Given the description of an element on the screen output the (x, y) to click on. 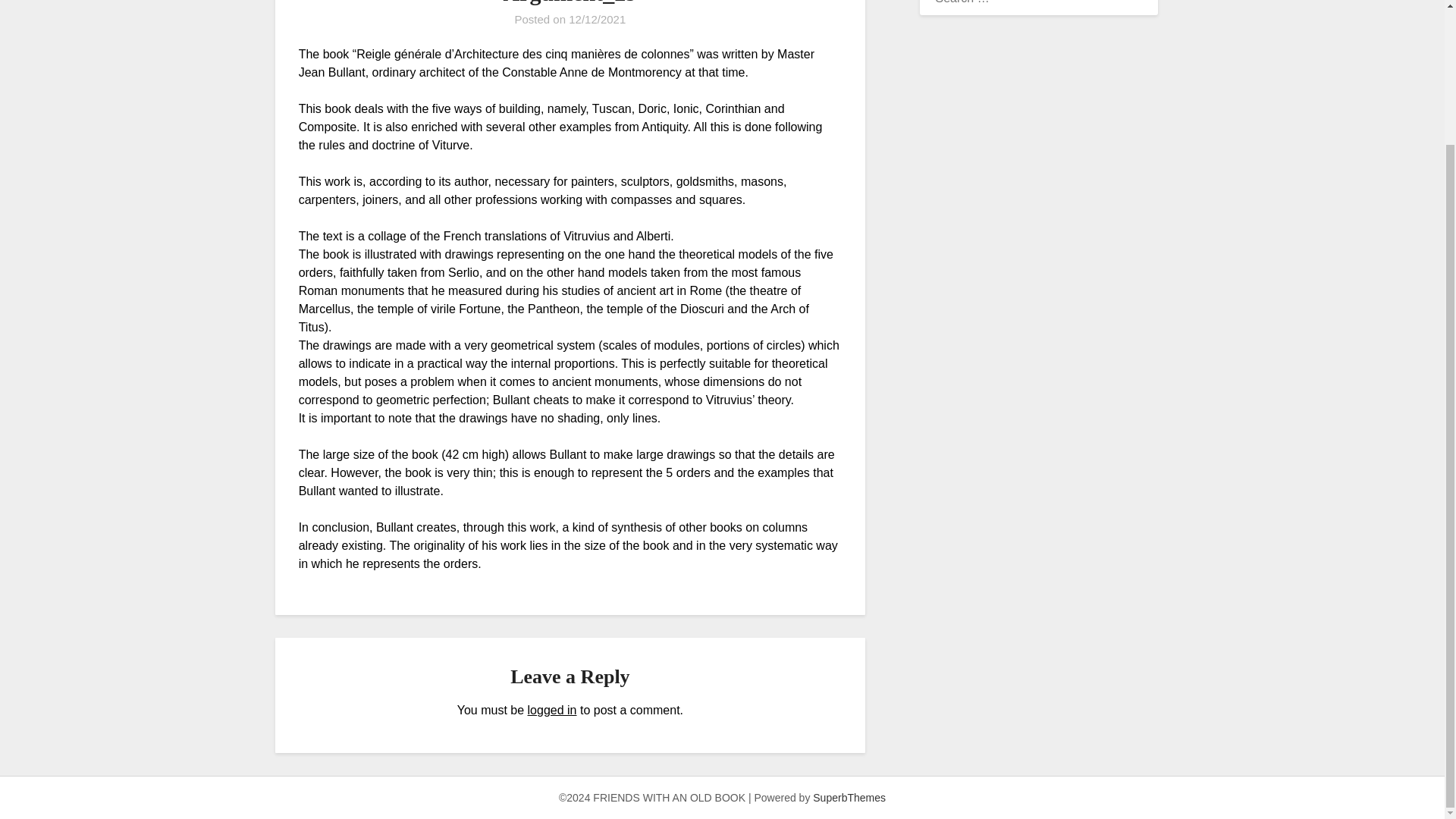
SuperbThemes (848, 797)
logged in (551, 709)
